Given the description of an element on the screen output the (x, y) to click on. 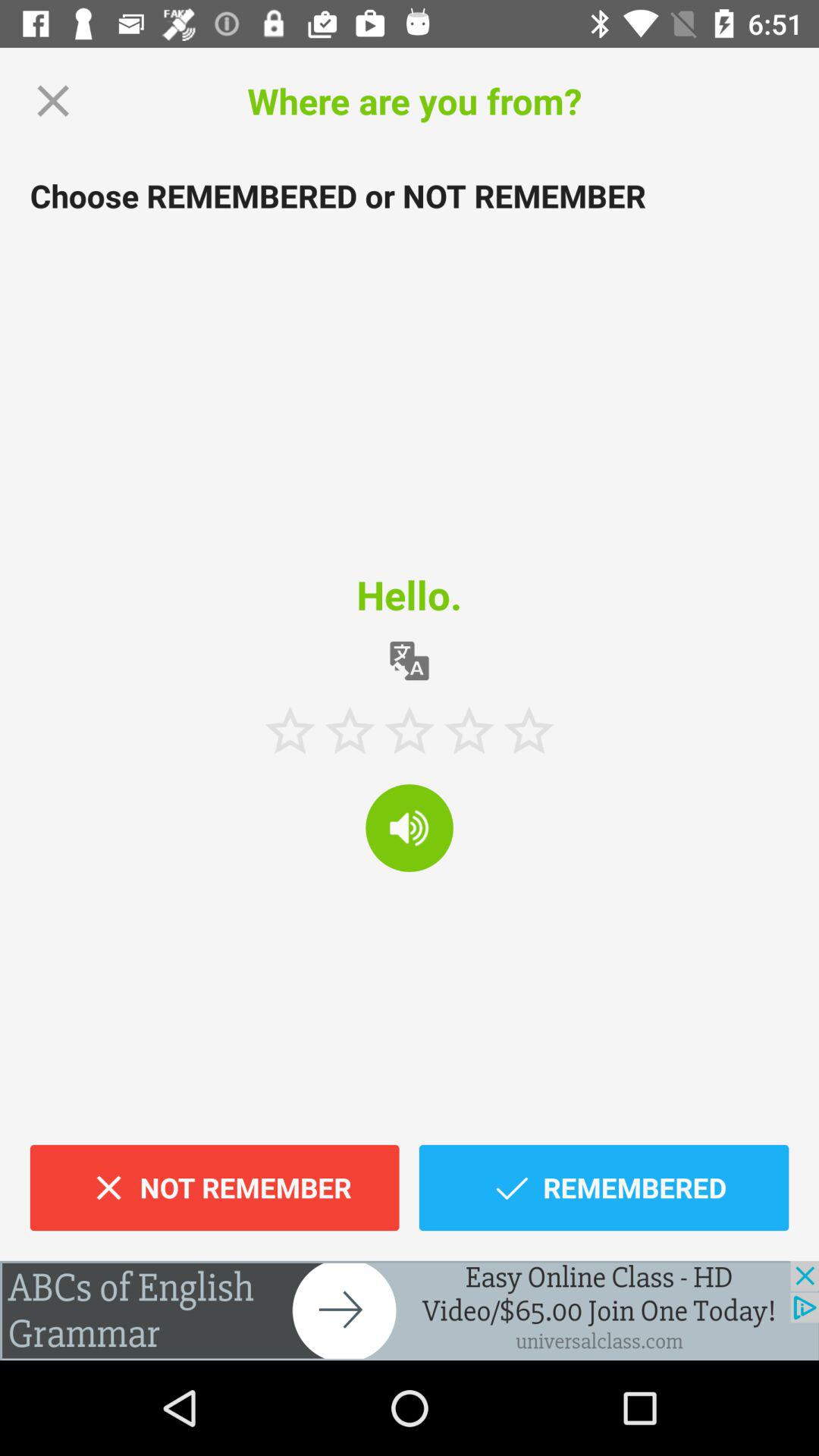
set the sound (409, 827)
